Given the description of an element on the screen output the (x, y) to click on. 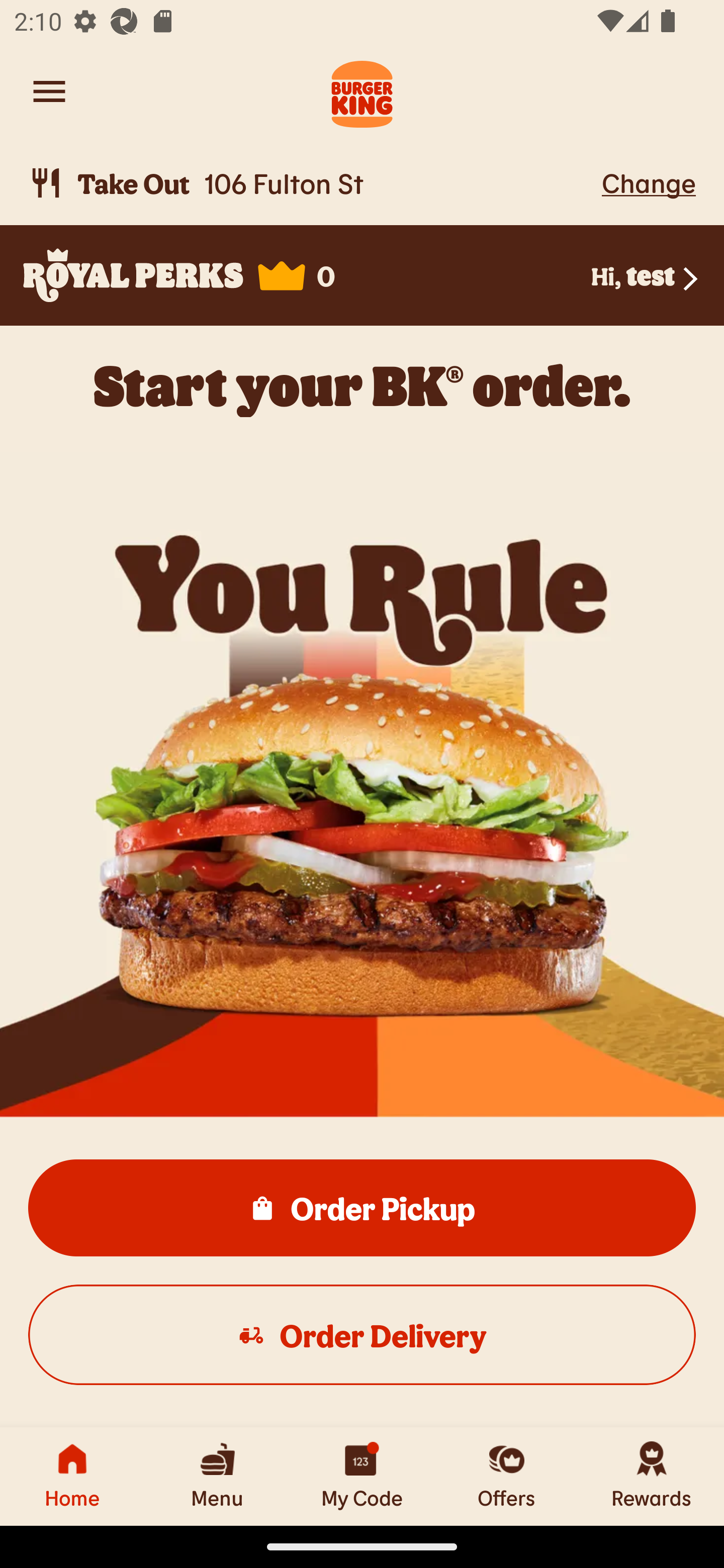
Burger King Logo. Navigate to Home (362, 91)
Navigate to account menu  (49, 91)
Take Out, 106 Fulton St  Take Out 106 Fulton St (311, 183)
Change (648, 182)
Start your BK® order. (361, 385)
, Order Pickup  Order Pickup (361, 1206)
, Order Delivery  Order Delivery (361, 1334)
Home (72, 1475)
Menu (216, 1475)
My Code (361, 1475)
Offers (506, 1475)
Rewards (651, 1475)
